Given the description of an element on the screen output the (x, y) to click on. 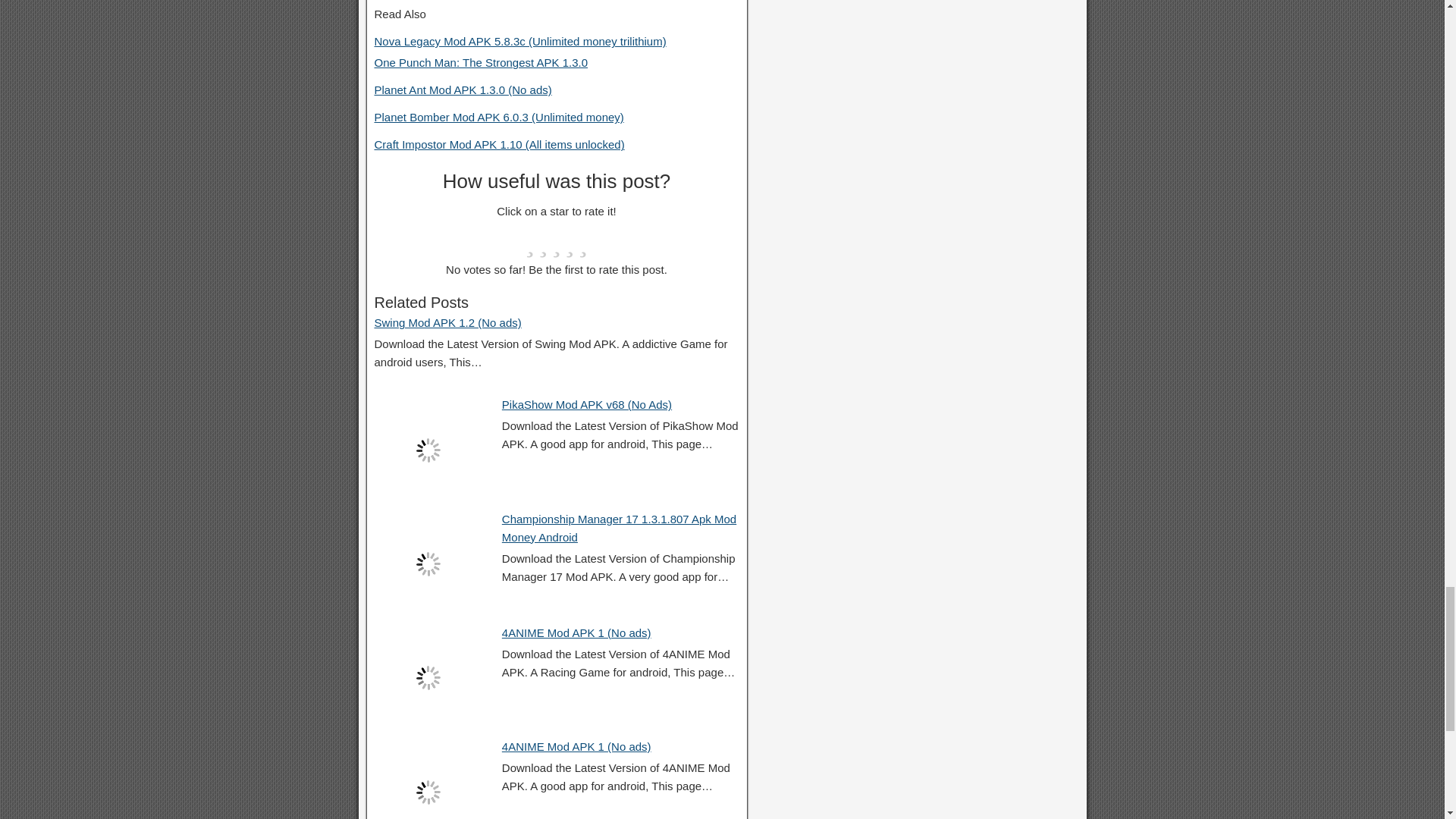
Championship Manager 17 1.3.1.807 Apk Mod Money Android (619, 527)
One Punch Man: The Strongest APK 1.3.0 (481, 62)
One Punch Man: The Strongest APK 1.3.0 (481, 62)
